Given the description of an element on the screen output the (x, y) to click on. 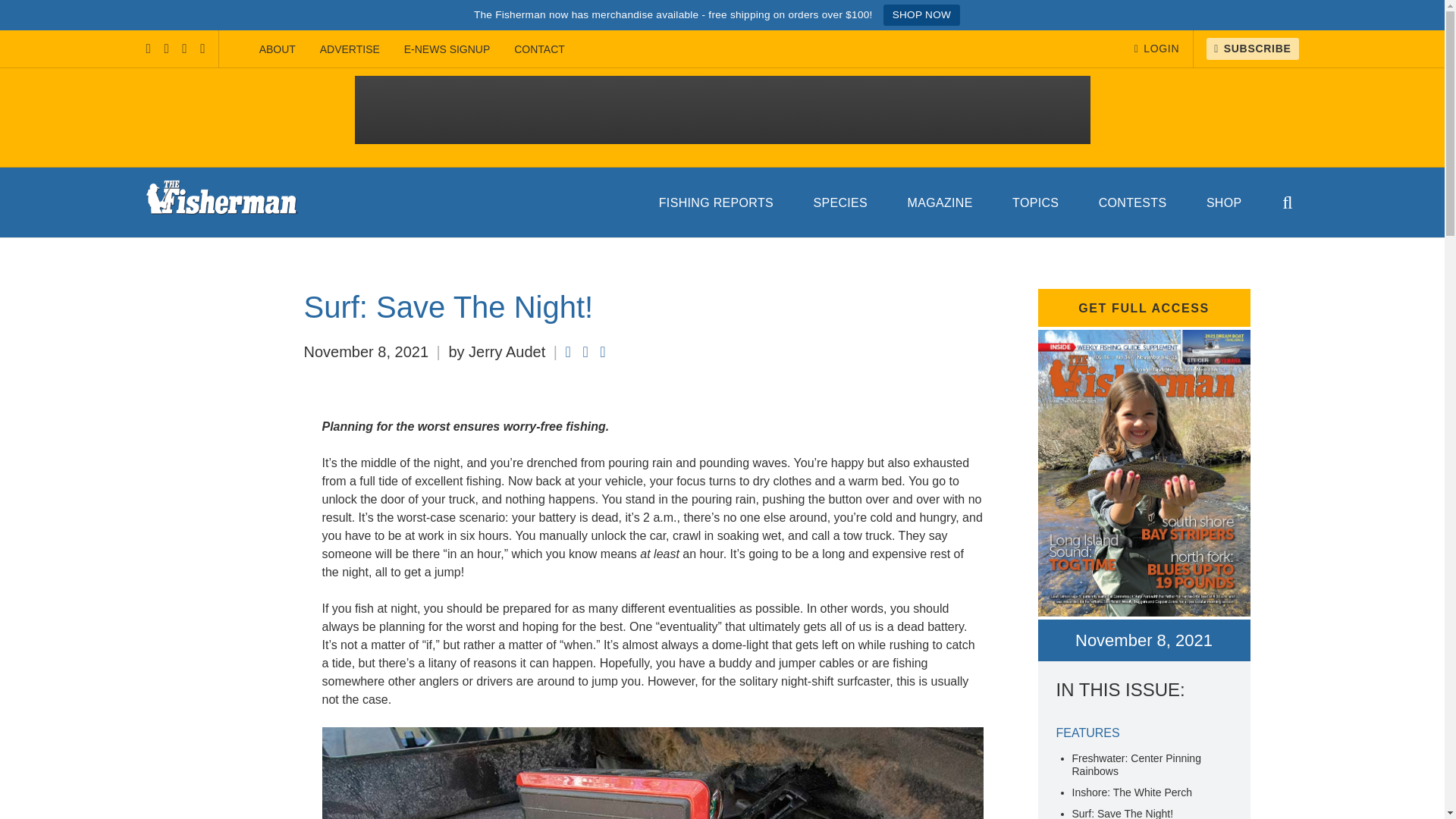
FISHING REPORTS (716, 202)
CONTACT (539, 49)
E-NEWS SIGNUP (446, 49)
The Fisherman (221, 202)
LOGIN (1156, 48)
SHOP NOW (921, 14)
ADVERTISE (349, 49)
ABOUT (276, 49)
SPECIES (839, 202)
SUBSCRIBE (1252, 48)
